Given the description of an element on the screen output the (x, y) to click on. 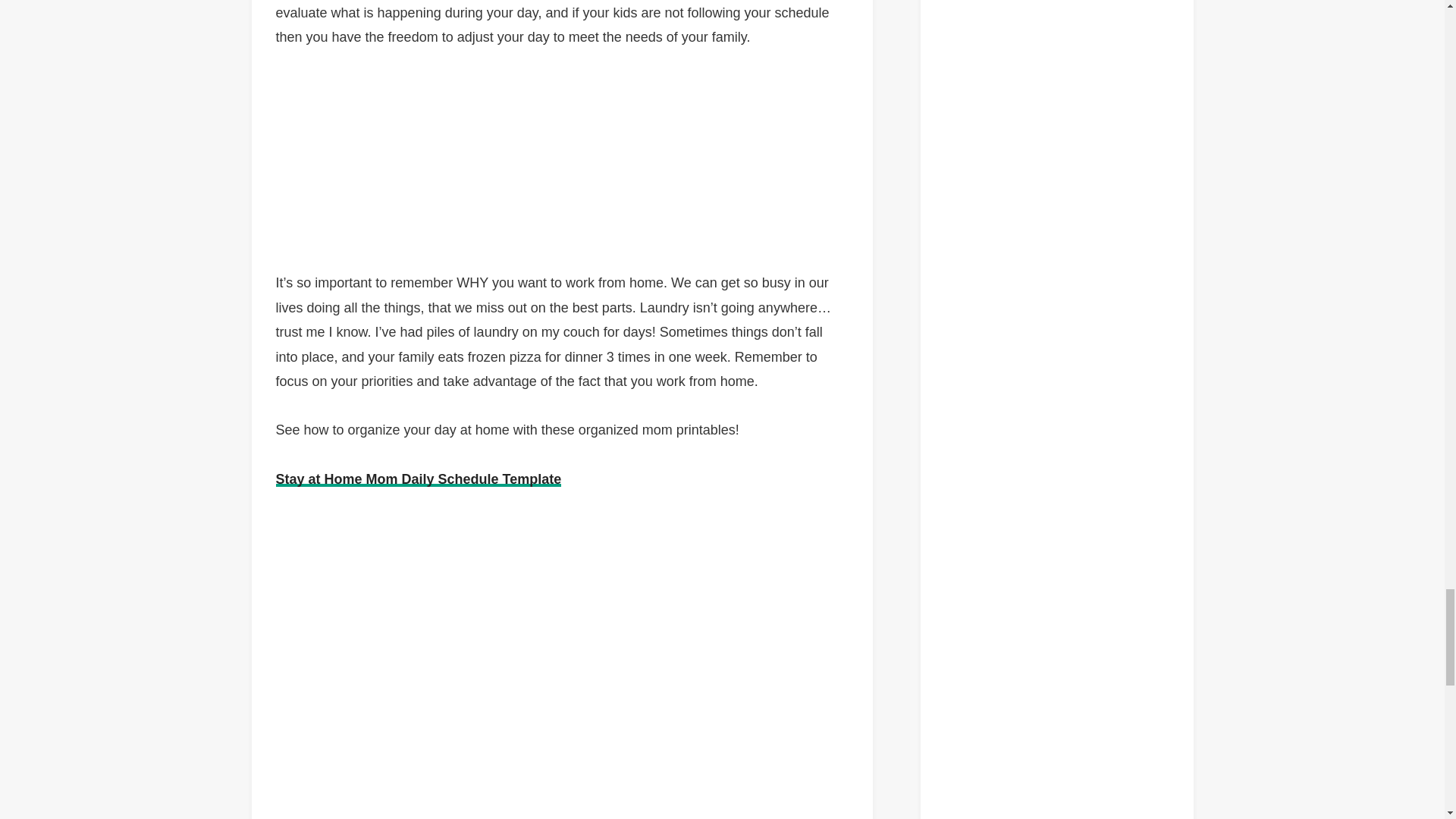
Stay at Home Mom Daily Schedule Template (419, 478)
